Given the description of an element on the screen output the (x, y) to click on. 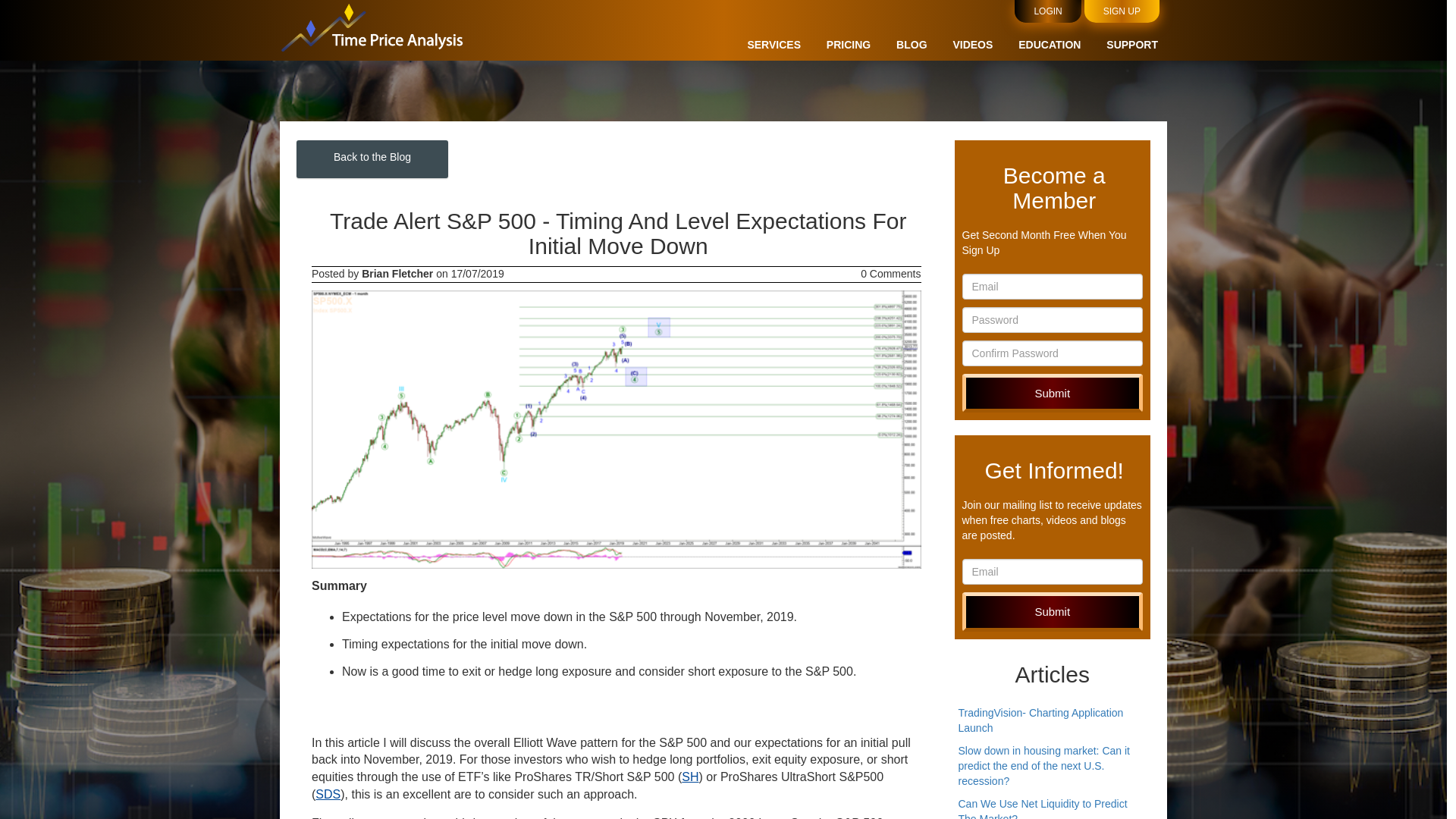
SIGN UP (1121, 11)
BLOG (911, 44)
SDS (327, 793)
Submit (1051, 392)
Can We Use Net Liquidity to Predict The Market? (1042, 808)
EDUCATION (1048, 44)
PRICING (848, 44)
SH (689, 776)
SUPPORT (1131, 44)
LOGIN (1047, 11)
